Given the description of an element on the screen output the (x, y) to click on. 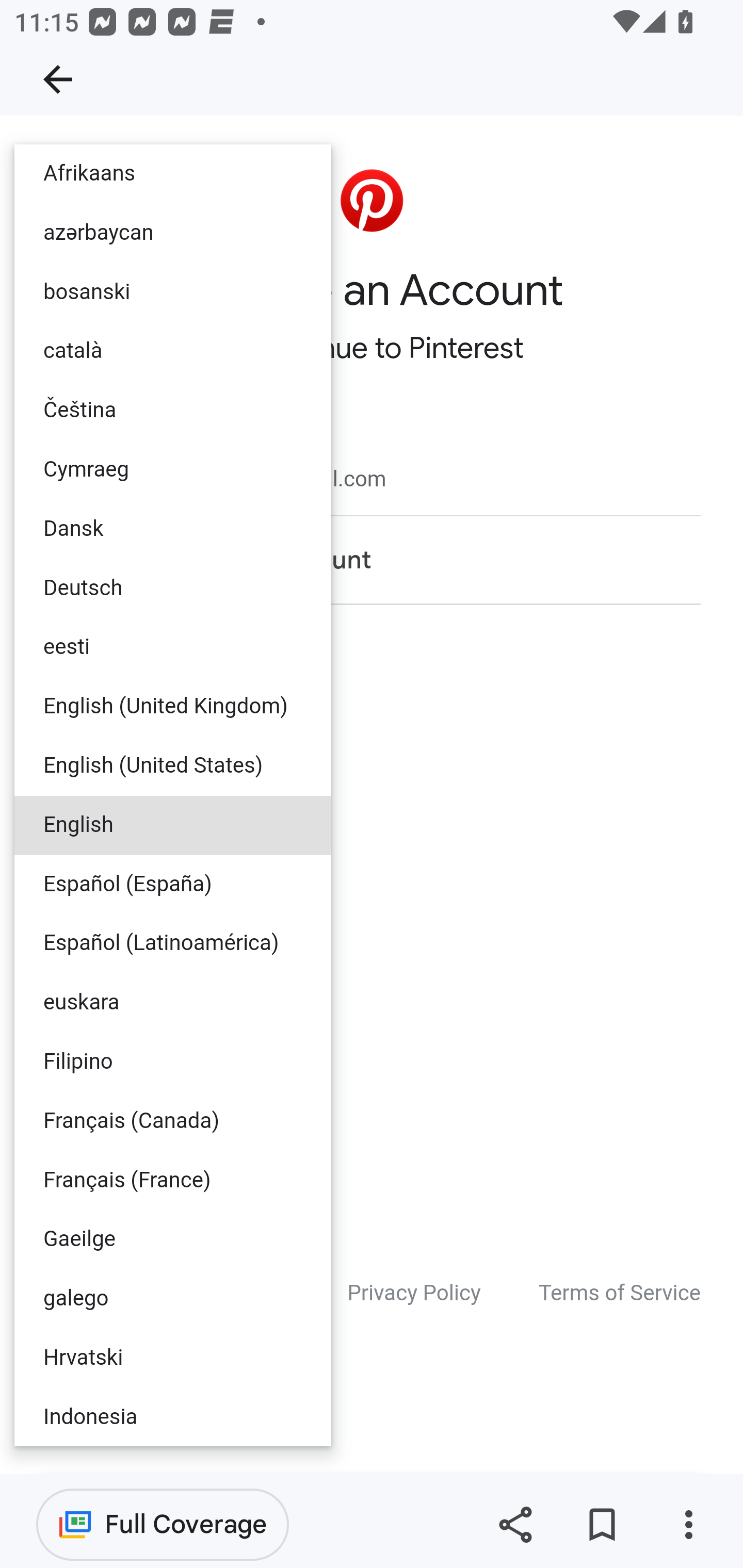
Navigate up (57, 79)
‪Afrikaans‬ (173, 173)
‪azərbaycan‬ (173, 232)
‪bosanski‬ (173, 292)
‪català‬ (173, 351)
‪Čeština‬ (173, 411)
‪Cymraeg‬ (173, 469)
‪Dansk‬ (173, 528)
‪Deutsch‬ (173, 588)
‪eesti‬ (173, 647)
‪English (United Kingdom)‬ (173, 707)
‪English (United States)‬ (173, 764)
‪English‬ (173, 825)
‪Español (España)‬ (173, 883)
‪Español (Latinoamérica)‬ (173, 944)
‪euskara‬ (173, 1002)
‪Filipino‬ (173, 1060)
‪Français (Canada)‬ (173, 1120)
‪Français (France)‬ (173, 1179)
‪Gaeilge‬ (173, 1239)
‪galego‬ (173, 1298)
Privacy Policy (414, 1292)
Terms of Service (619, 1292)
‪Hrvatski‬ (173, 1356)
‪Indonesia‬ (173, 1416)
Share (514, 1524)
Save for later (601, 1524)
More options (688, 1524)
Full Coverage (162, 1524)
